Given the description of an element on the screen output the (x, y) to click on. 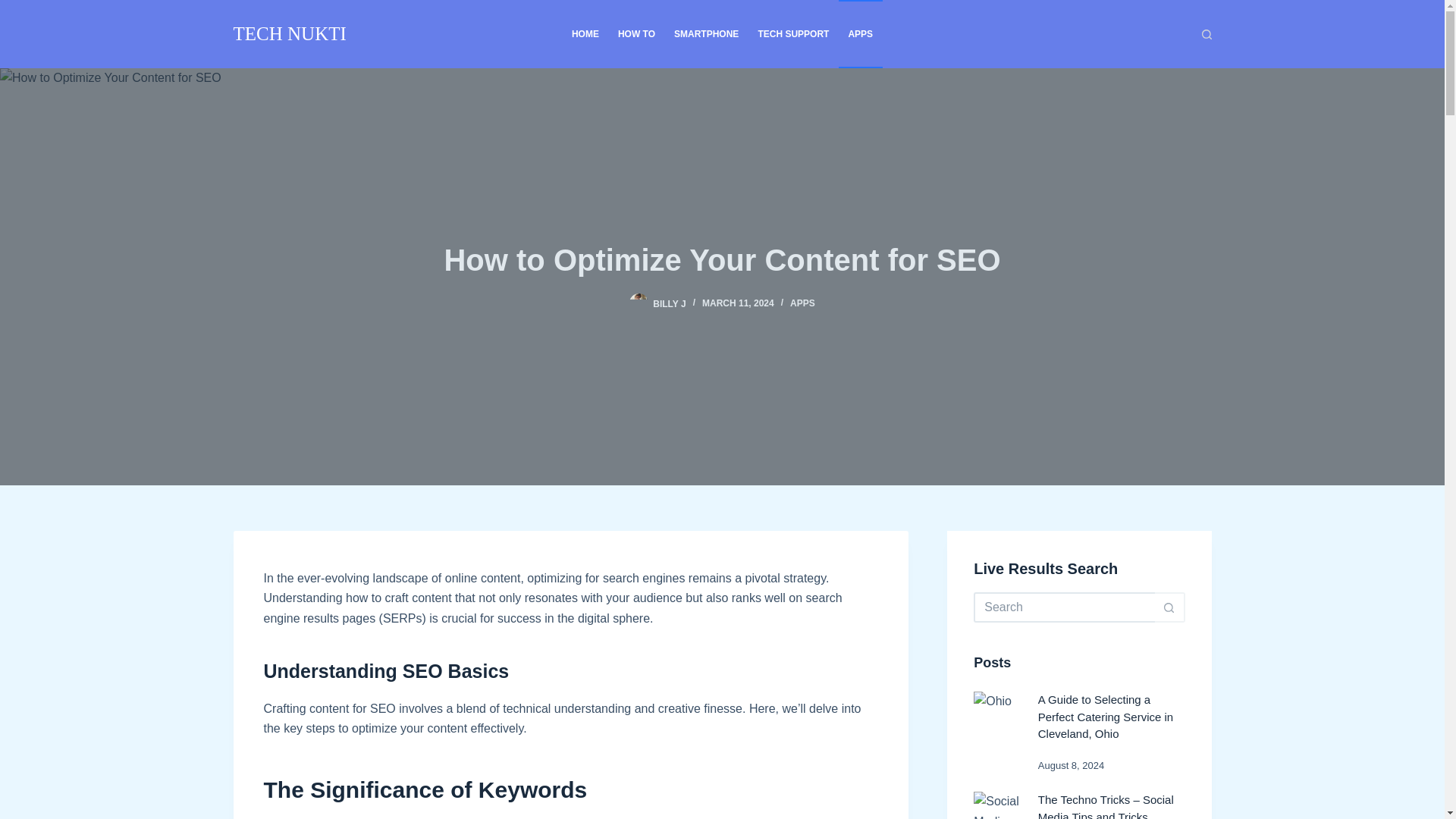
How to Optimize Your Content for SEO (722, 259)
Skip to content (15, 7)
BILLY J (668, 303)
Search for... (1064, 607)
Posts by Billy J (668, 303)
SMARTPHONE (706, 33)
TECH NUKTI (289, 33)
TECH SUPPORT (793, 33)
APPS (802, 303)
